Given the description of an element on the screen output the (x, y) to click on. 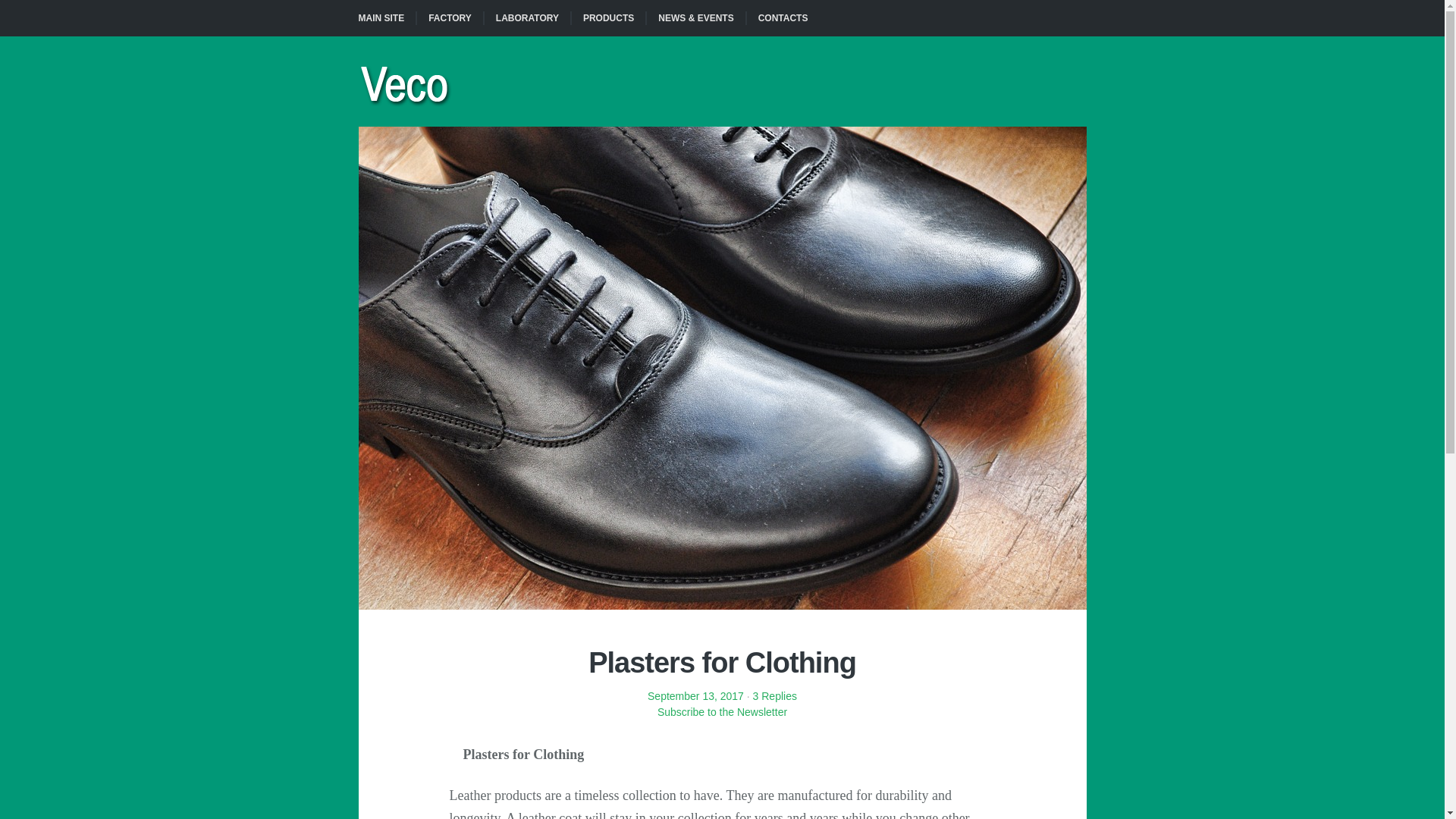
LABORATORY (526, 18)
FACTORY (448, 18)
Subscribe to the Newsletter (721, 719)
September 13, 2017 (695, 695)
PRODUCTS (607, 18)
3 Replies (774, 695)
CONTACTS (782, 18)
MAIN SITE (386, 18)
